Given the description of an element on the screen output the (x, y) to click on. 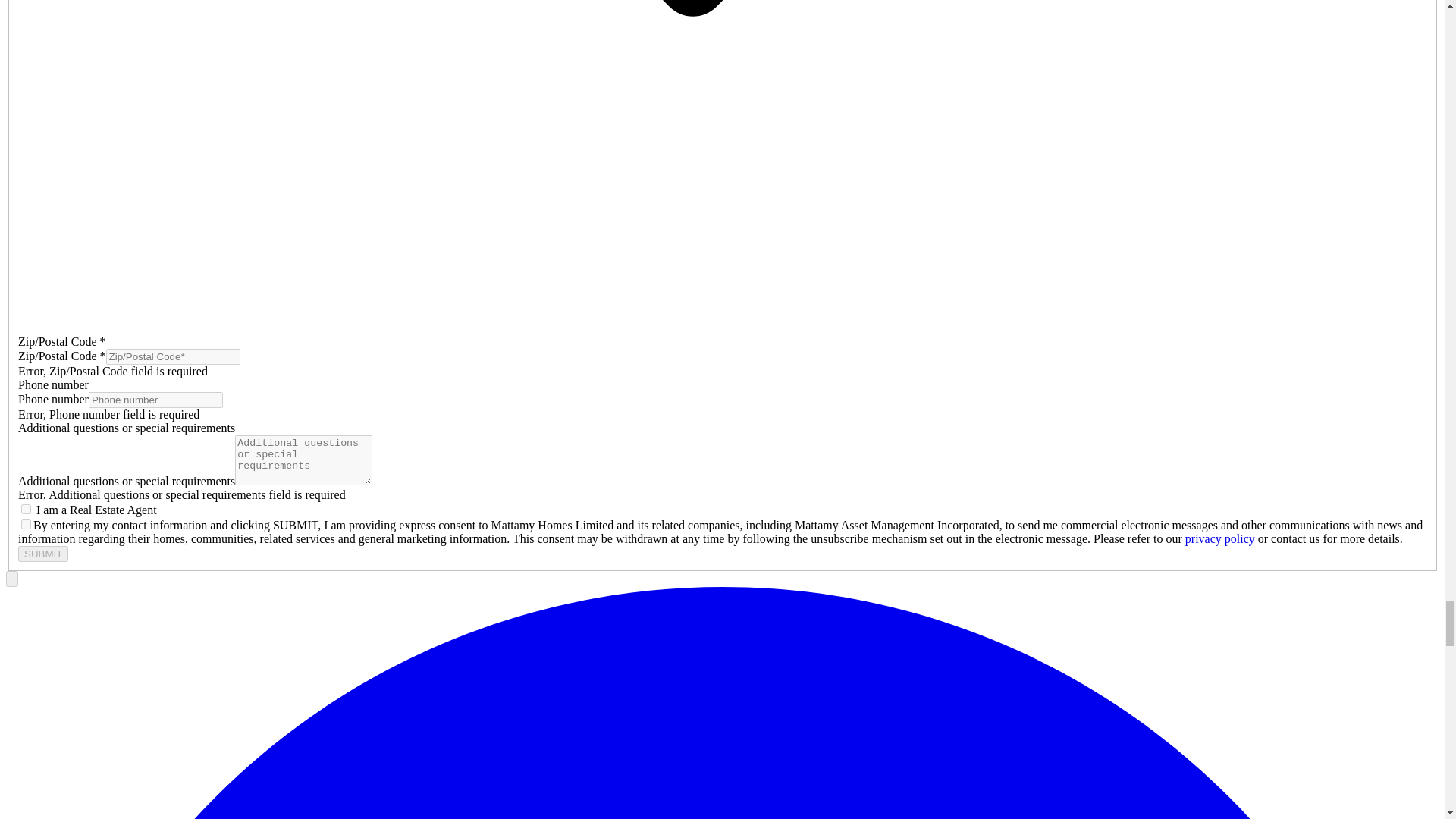
Phone number (721, 399)
true (25, 524)
SUBMIT (42, 553)
true (25, 509)
privacy policy (1220, 538)
Additional questions or special requirements (721, 461)
